Given the description of an element on the screen output the (x, y) to click on. 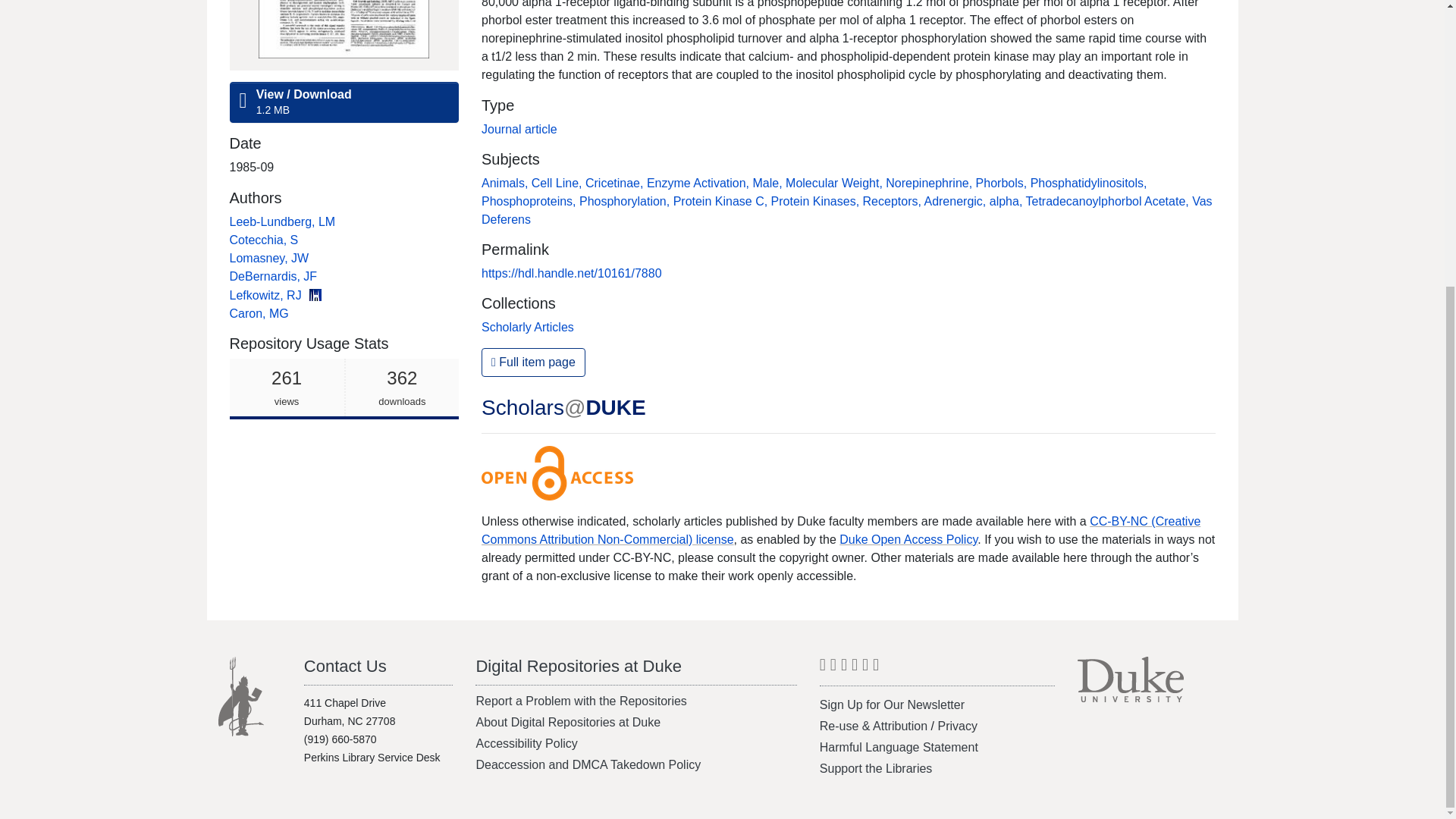
Caron, MG (258, 313)
Phorbols, (1002, 182)
Journal article (519, 128)
Molecular Weight, (835, 182)
Male, (769, 182)
Cell Line, (558, 182)
DeBernardis, JF (272, 276)
Enzyme Activation, (699, 182)
Lefkowitz, RJ (266, 295)
Leeb-Lundberg, LM (281, 221)
Cotecchia, S (263, 239)
Lomasney, JW (343, 388)
Animals, (268, 257)
Norepinephrine, (506, 182)
